Given the description of an element on the screen output the (x, y) to click on. 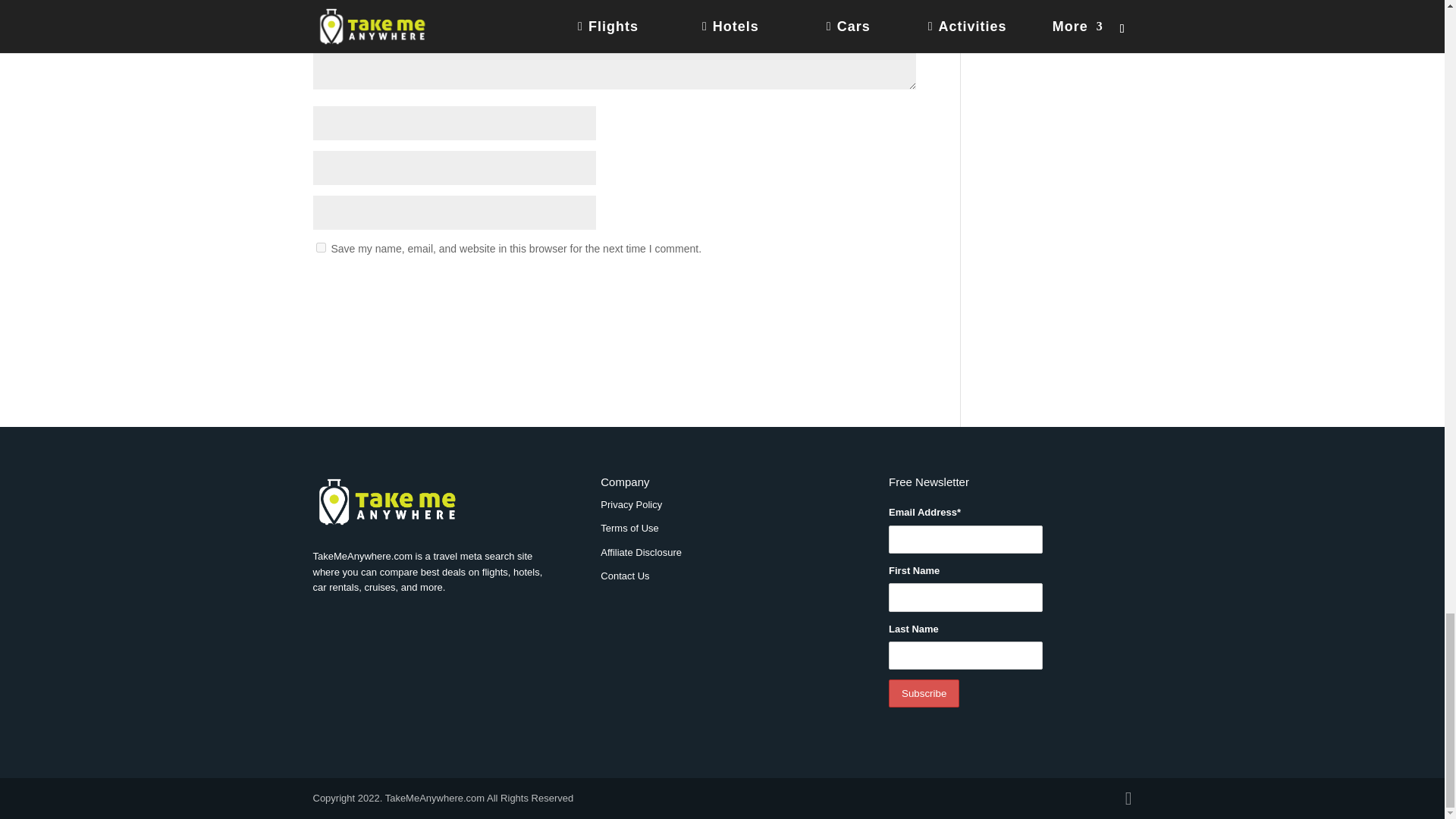
yes (319, 247)
Submit Comment (840, 288)
Submit Comment (840, 288)
Subscribe (923, 693)
